Given the description of an element on the screen output the (x, y) to click on. 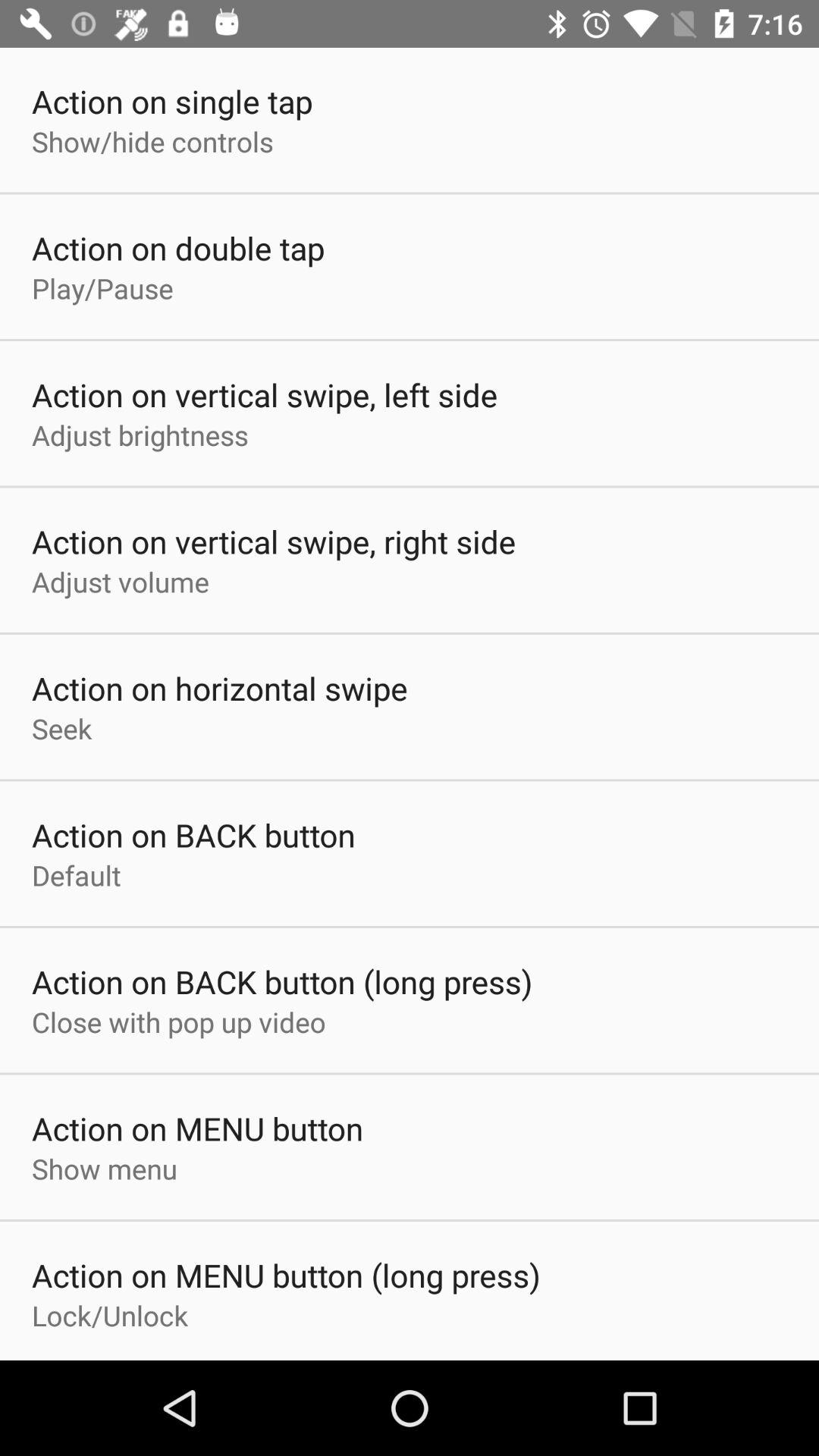
open the app below action on single icon (152, 141)
